Given the description of an element on the screen output the (x, y) to click on. 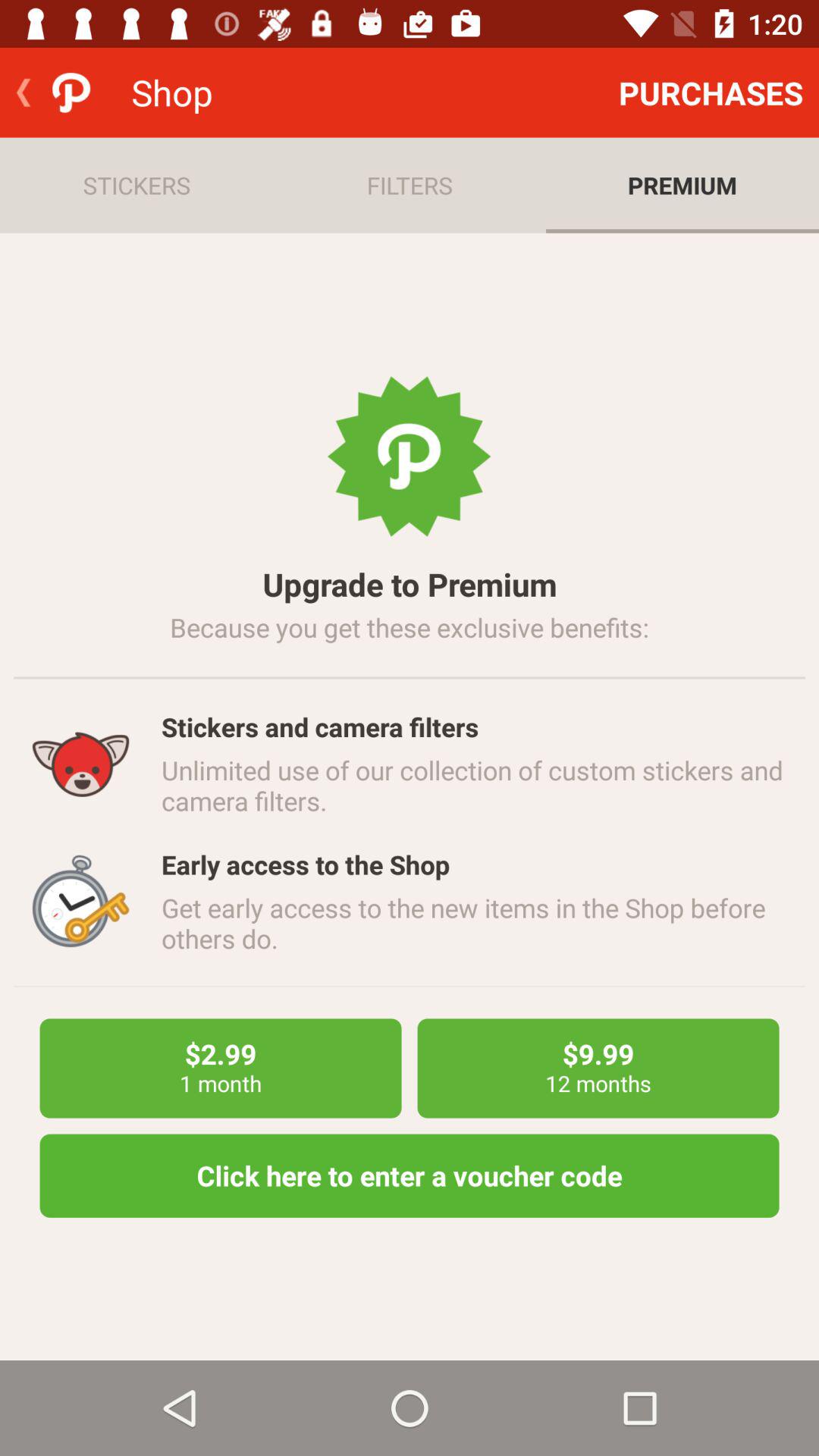
choose purchases item (710, 92)
